Given the description of an element on the screen output the (x, y) to click on. 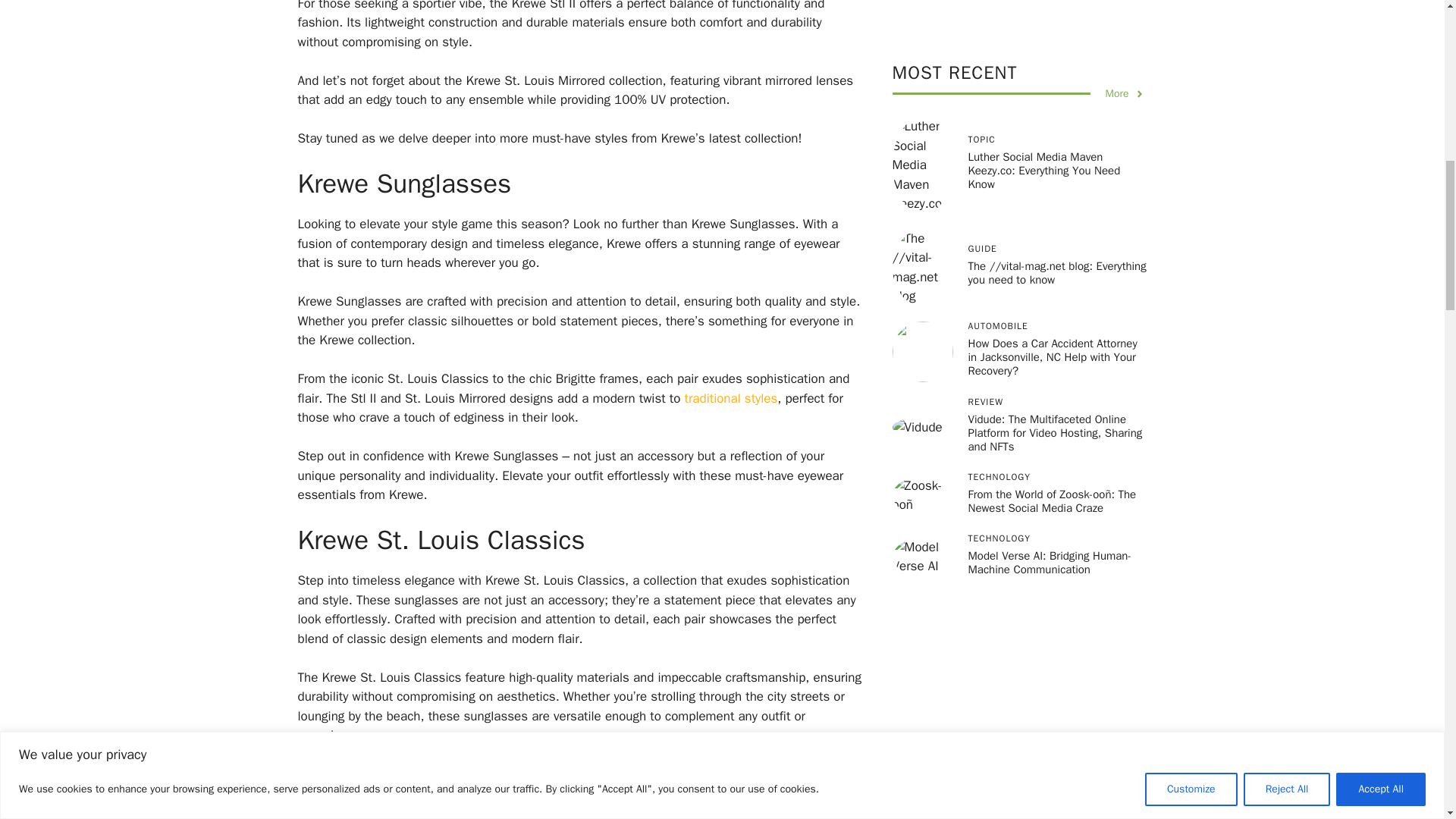
traditional styles (730, 398)
